Given the description of an element on the screen output the (x, y) to click on. 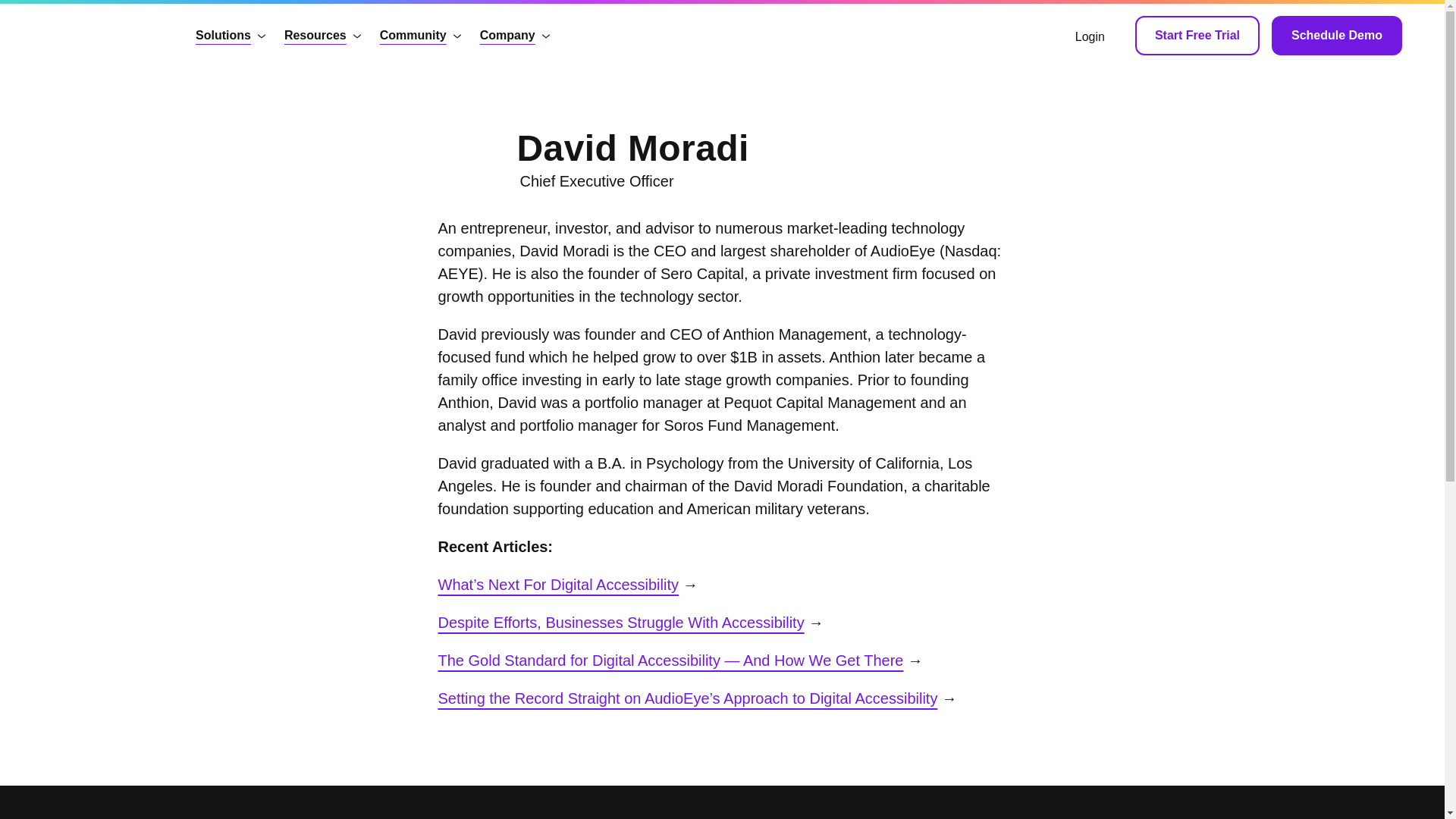
Company (515, 34)
Solutions (612, 159)
Community (230, 34)
Login (420, 34)
Despite Efforts, Businesses Struggle With Accessibility (1090, 35)
Resources (620, 622)
Schedule Demo (323, 34)
Start Free Trial (1336, 34)
